Given the description of an element on the screen output the (x, y) to click on. 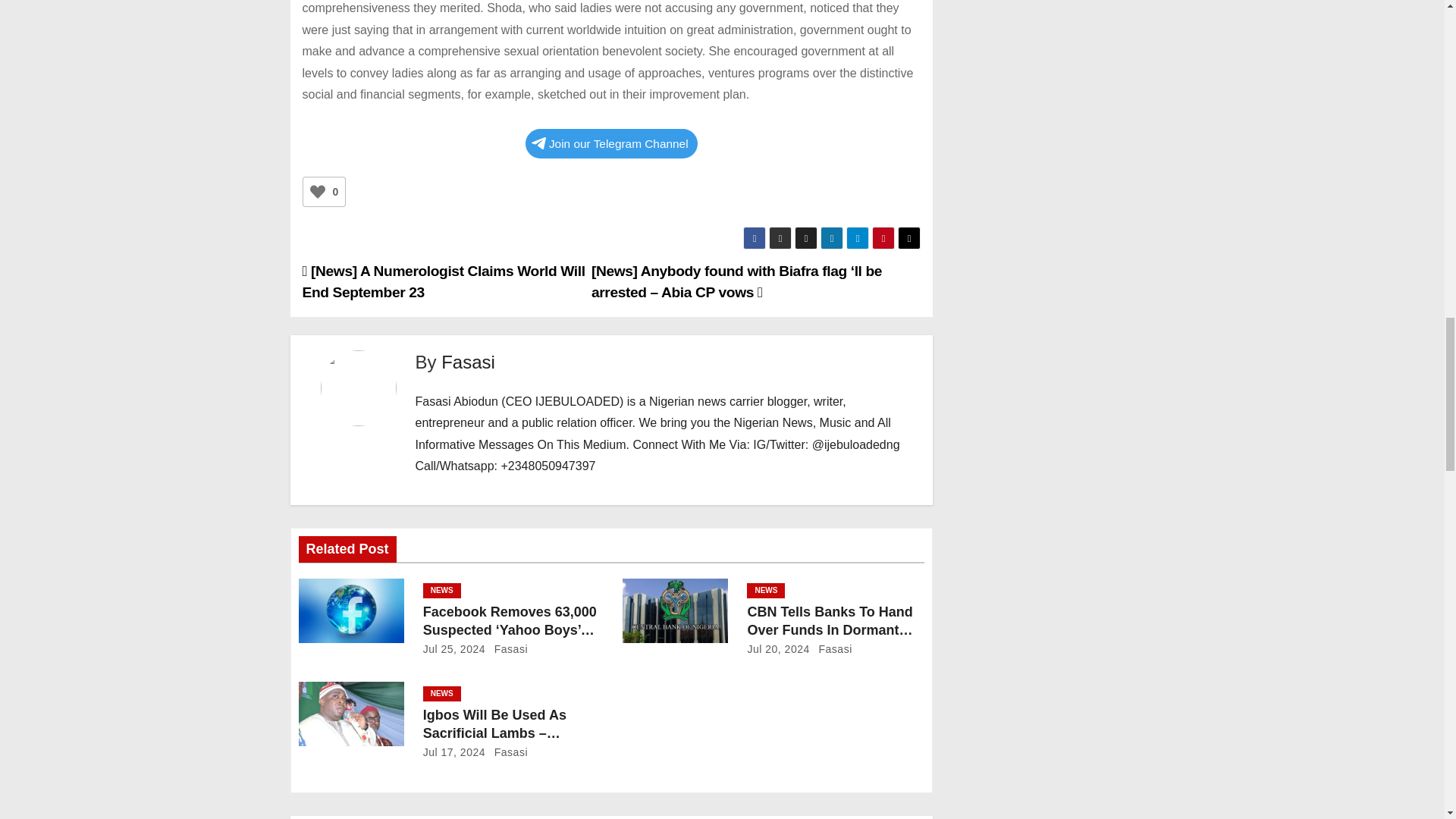
Join our Telegram Channel (611, 143)
